Given the description of an element on the screen output the (x, y) to click on. 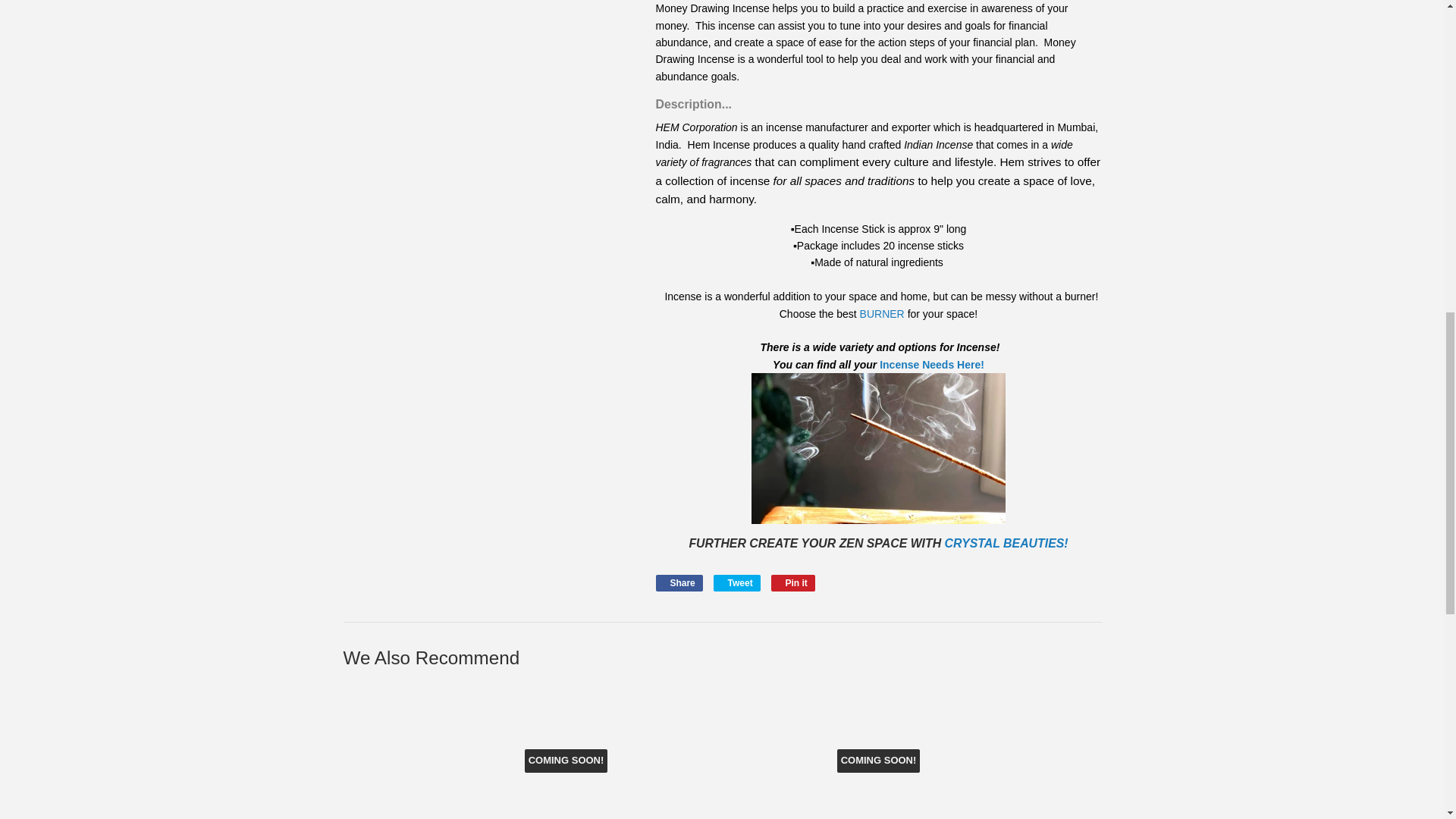
Share on Facebook (678, 582)
Incense Burner and Ash Catcher (882, 313)
Pin on Pinterest (793, 582)
Tweet on Twitter (736, 582)
